Given the description of an element on the screen output the (x, y) to click on. 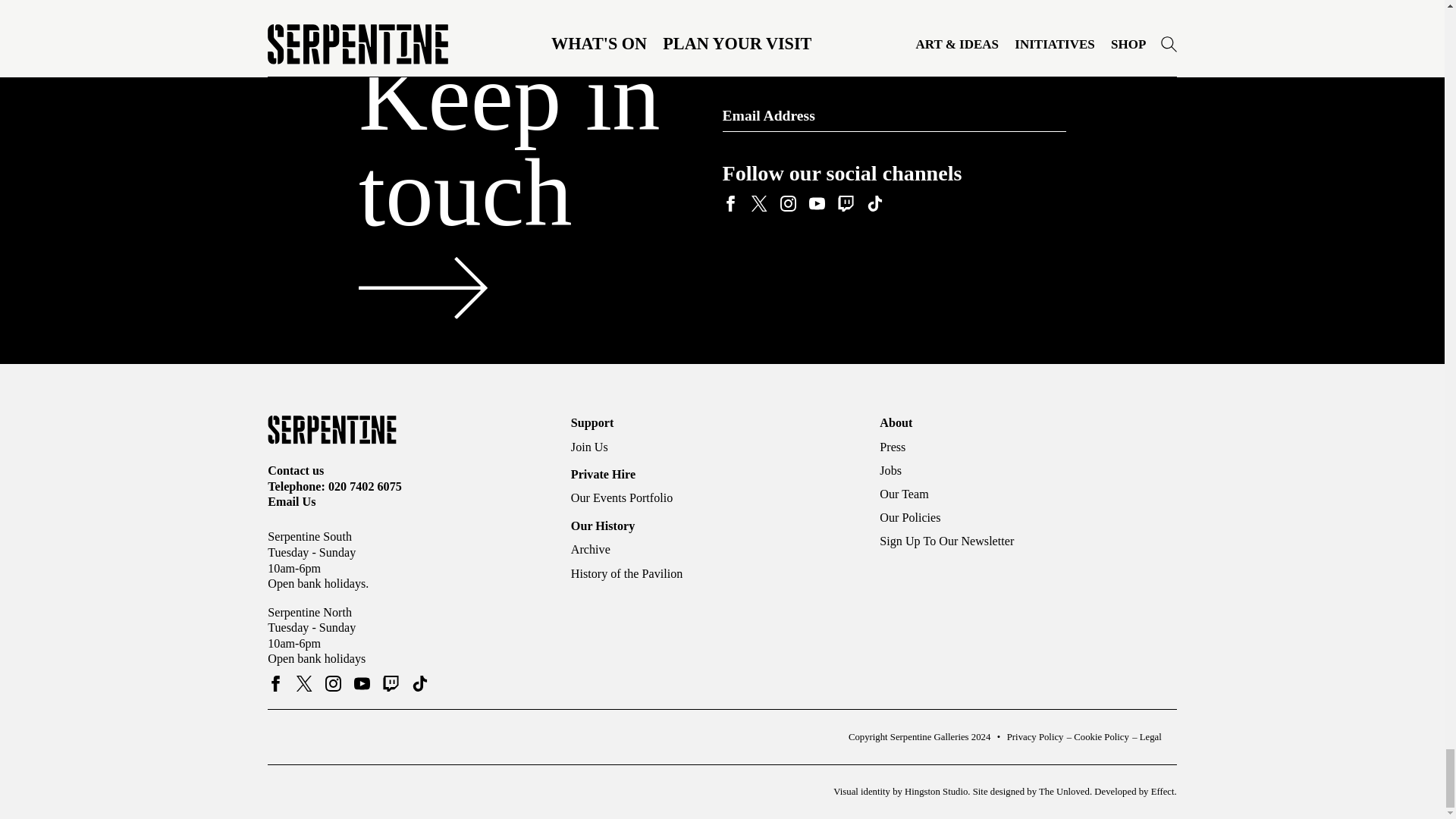
Twitter (759, 204)
Instagram (332, 683)
Youtube (816, 204)
Facebook (275, 683)
Twitch (845, 204)
Sign Up (1045, 114)
Twitter (305, 683)
Email Address (893, 115)
Tiktok (874, 204)
Instagram (786, 204)
Facebook (730, 204)
